Given the description of an element on the screen output the (x, y) to click on. 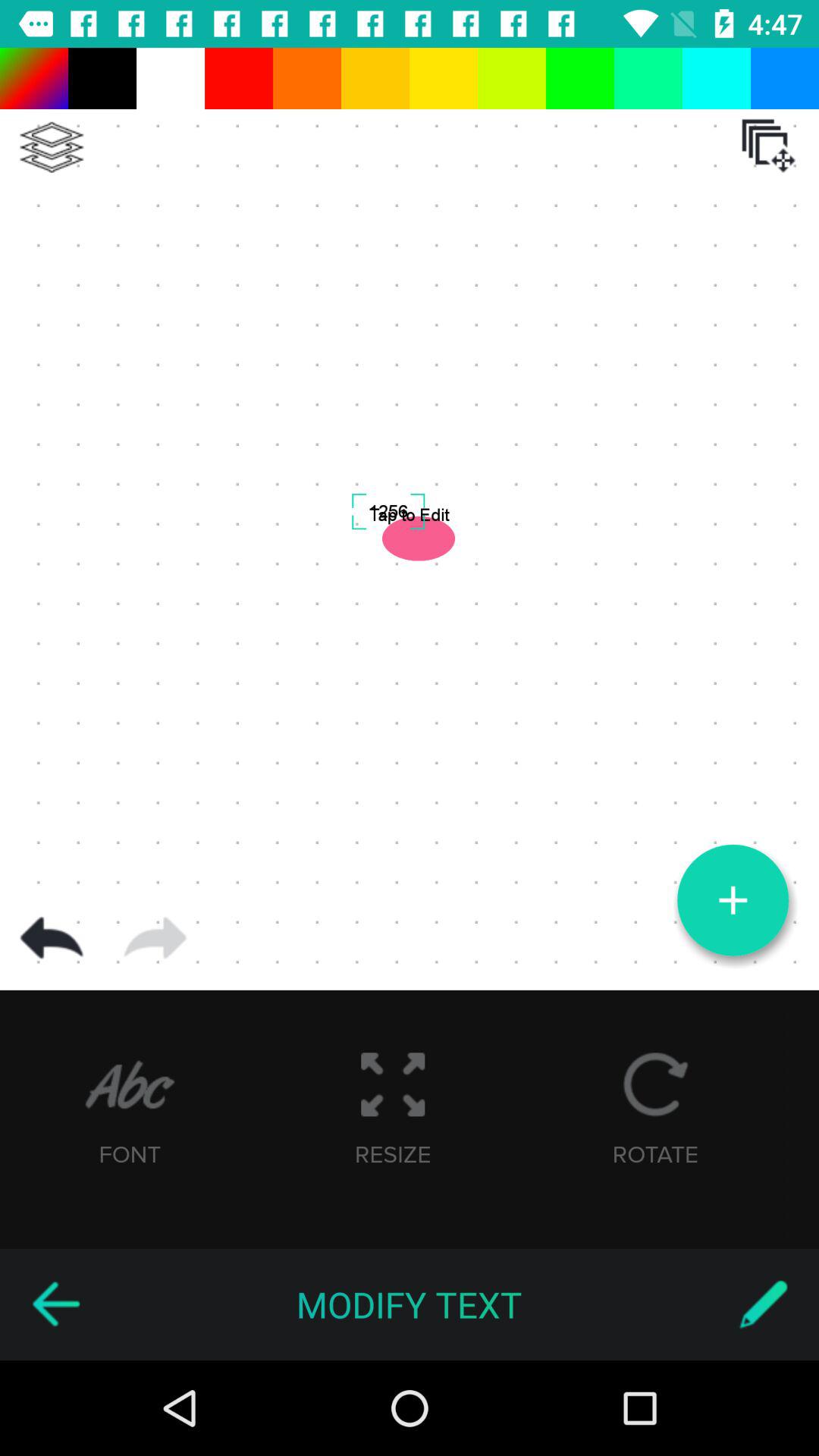
click the item below font (55, 1304)
